Given the description of an element on the screen output the (x, y) to click on. 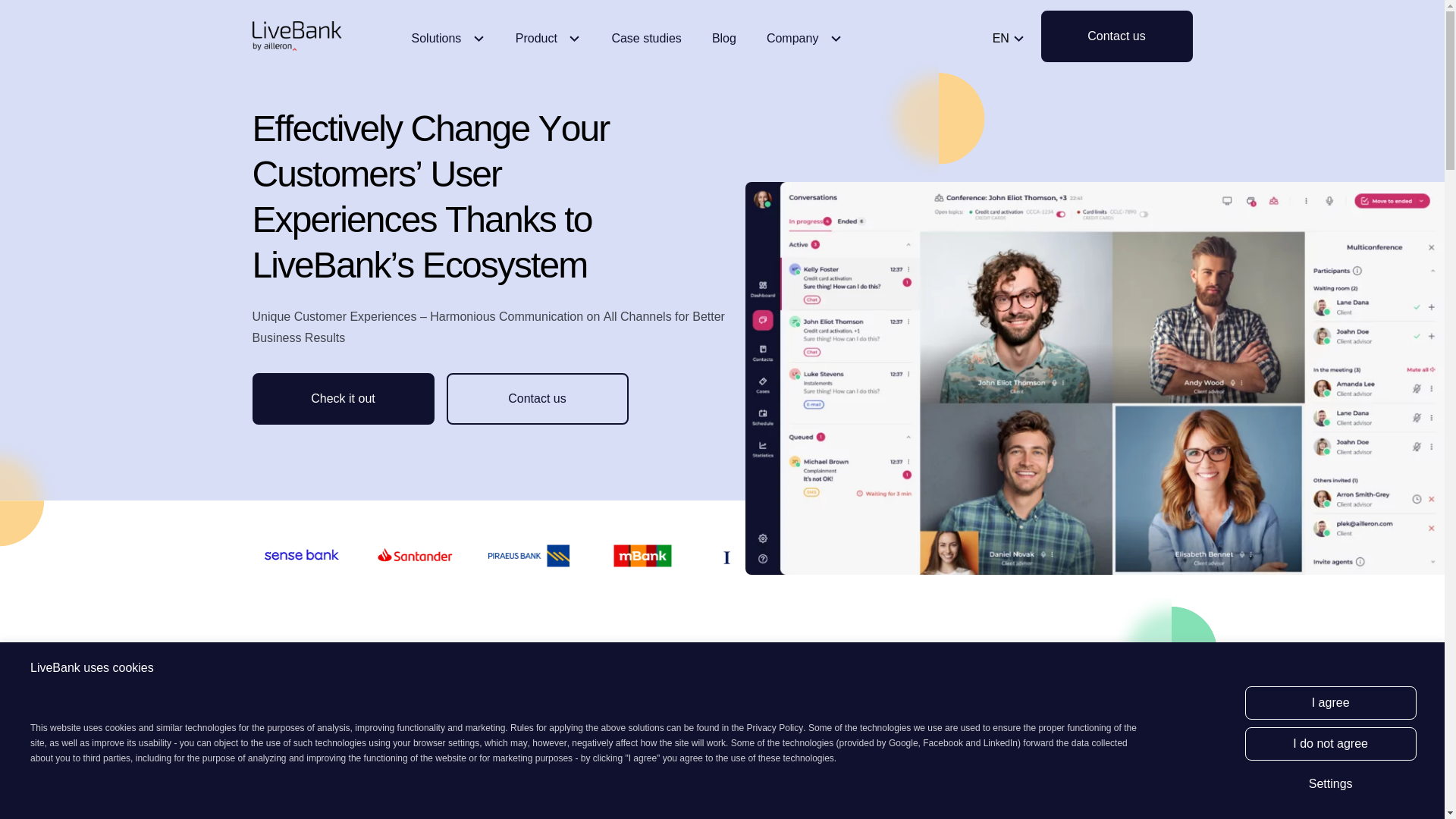
Livebank24 (296, 36)
Contact us (1116, 36)
Case studies (646, 50)
